Given the description of an element on the screen output the (x, y) to click on. 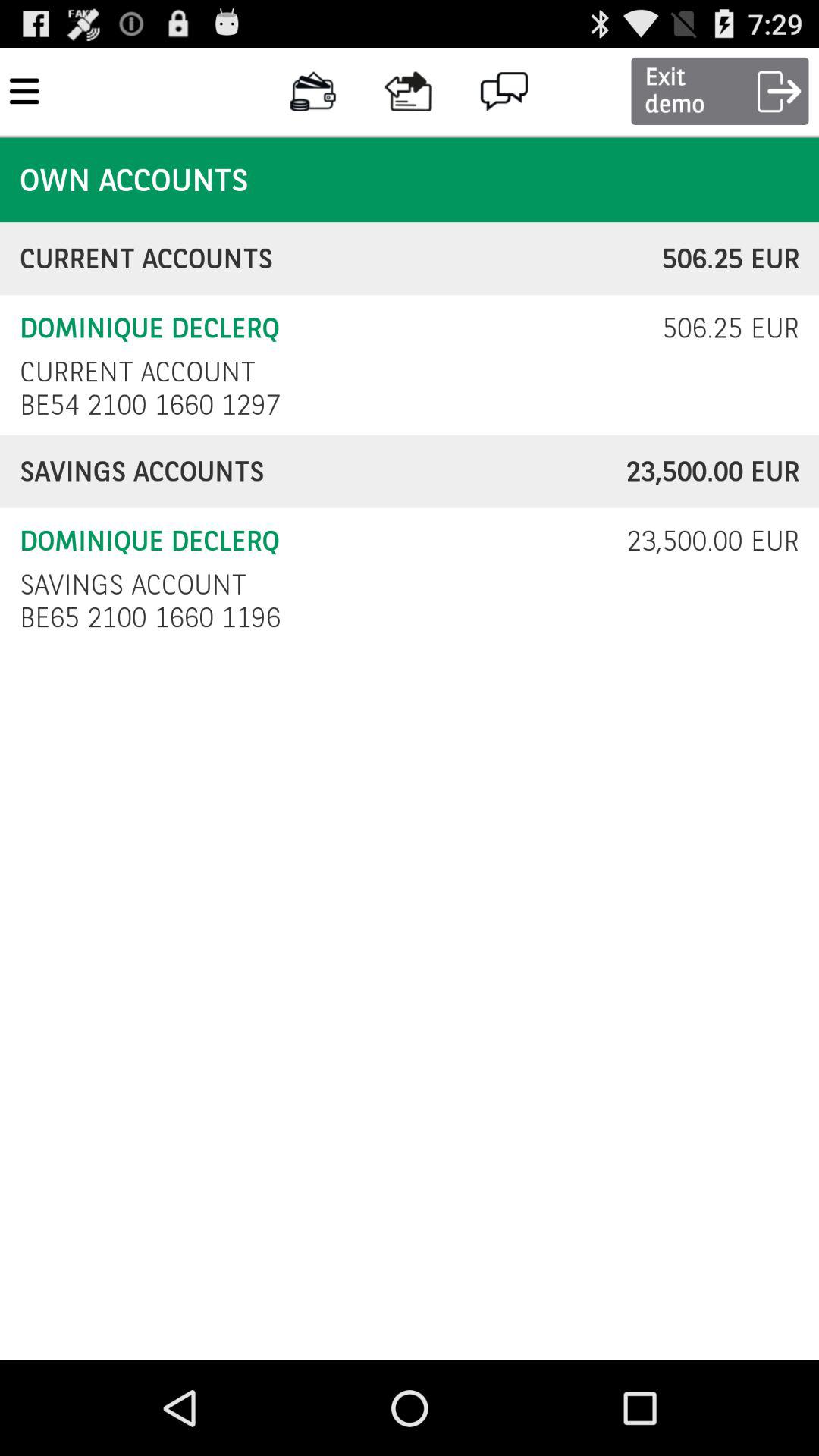
click the current account icon (137, 371)
